Given the description of an element on the screen output the (x, y) to click on. 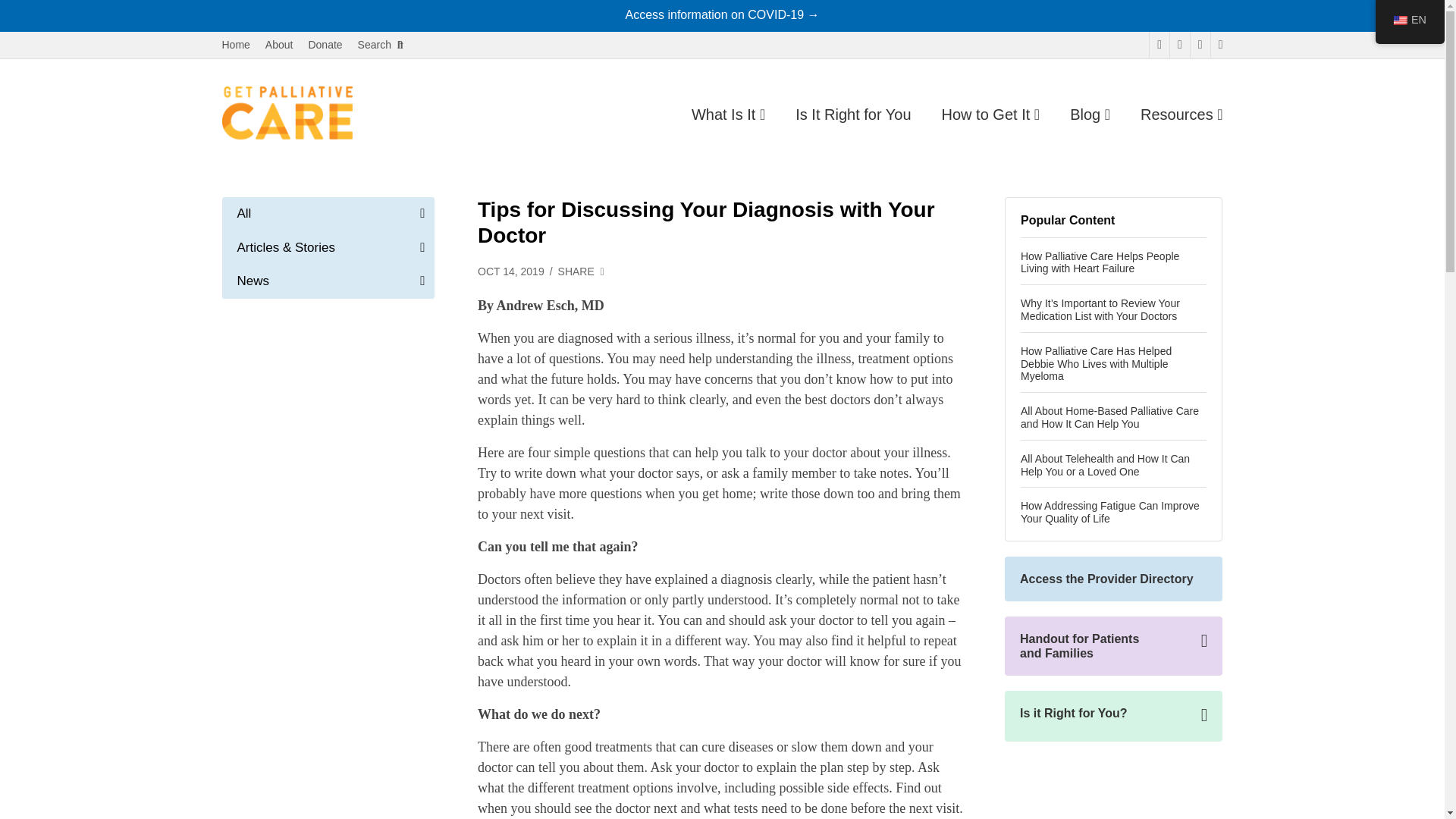
About (279, 44)
Home (234, 44)
All (327, 213)
Blog (1089, 114)
Is It Right for You (852, 114)
News (327, 281)
Resources (1181, 114)
English (1400, 20)
How to Get It (991, 114)
Search   (380, 44)
What Is It (728, 114)
Donate (324, 44)
